Given the description of an element on the screen output the (x, y) to click on. 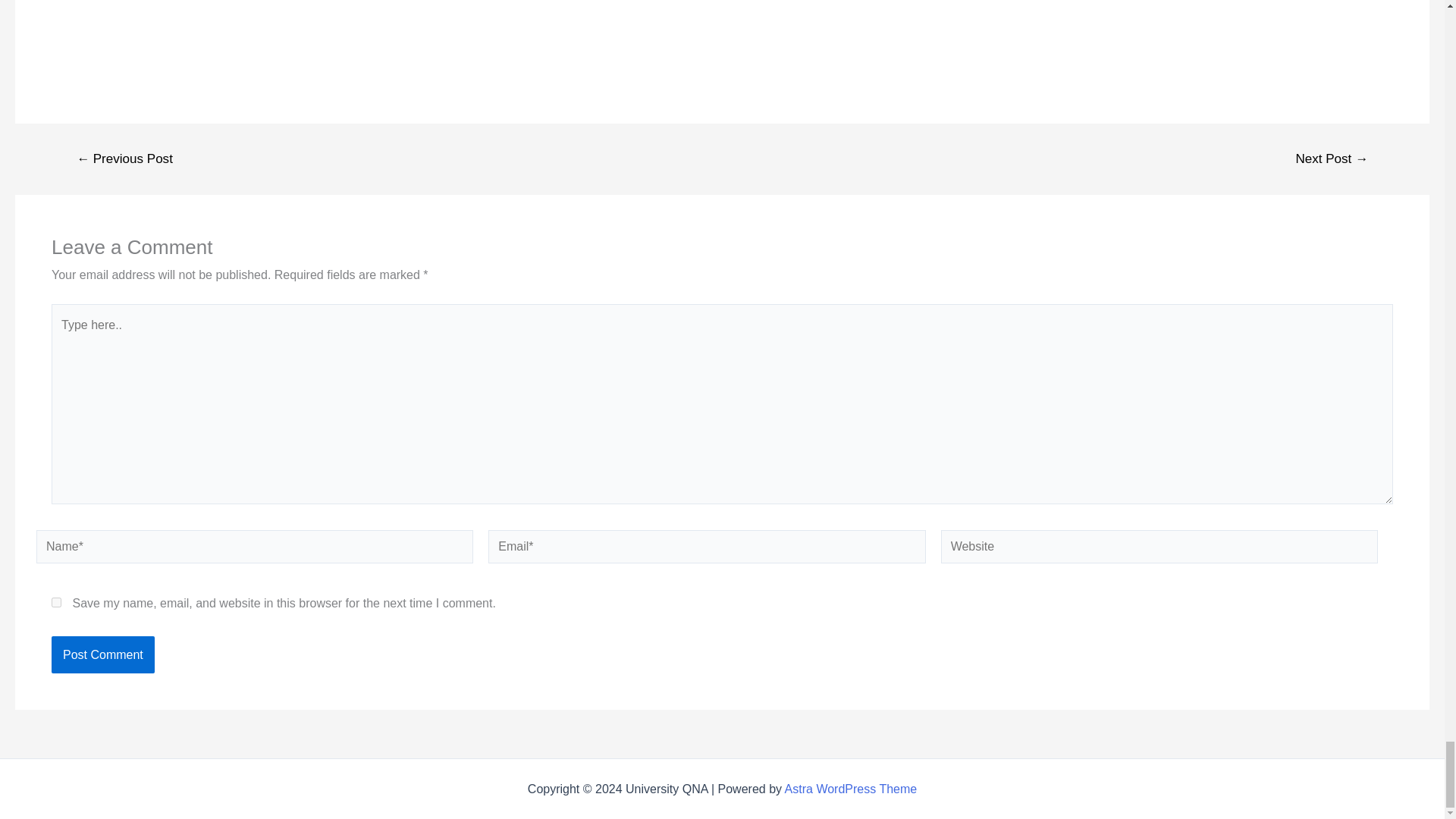
yes (55, 602)
Post Comment (102, 655)
